Given the description of an element on the screen output the (x, y) to click on. 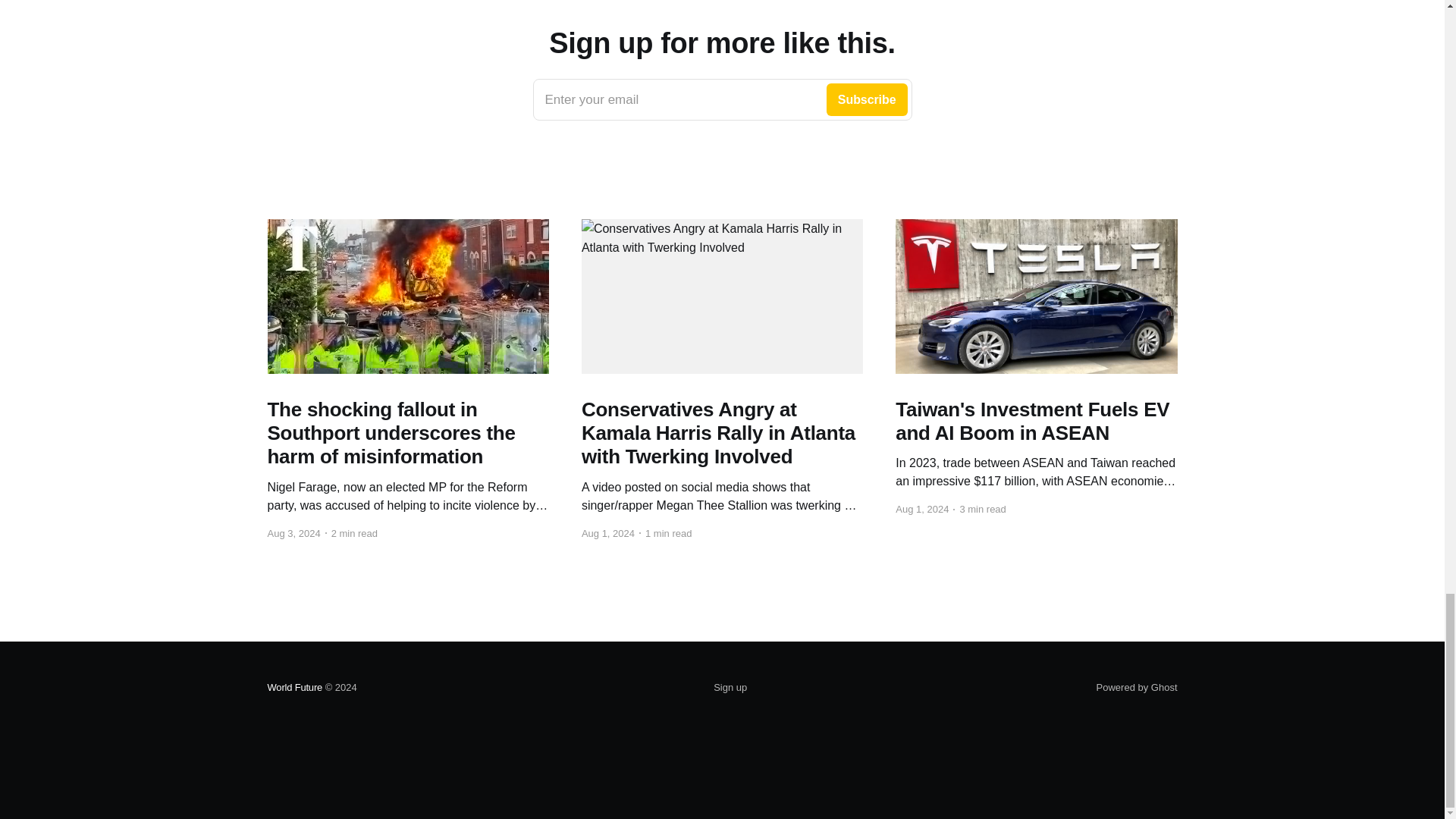
World Future (293, 686)
Sign up (729, 687)
Powered by Ghost (721, 99)
